Given the description of an element on the screen output the (x, y) to click on. 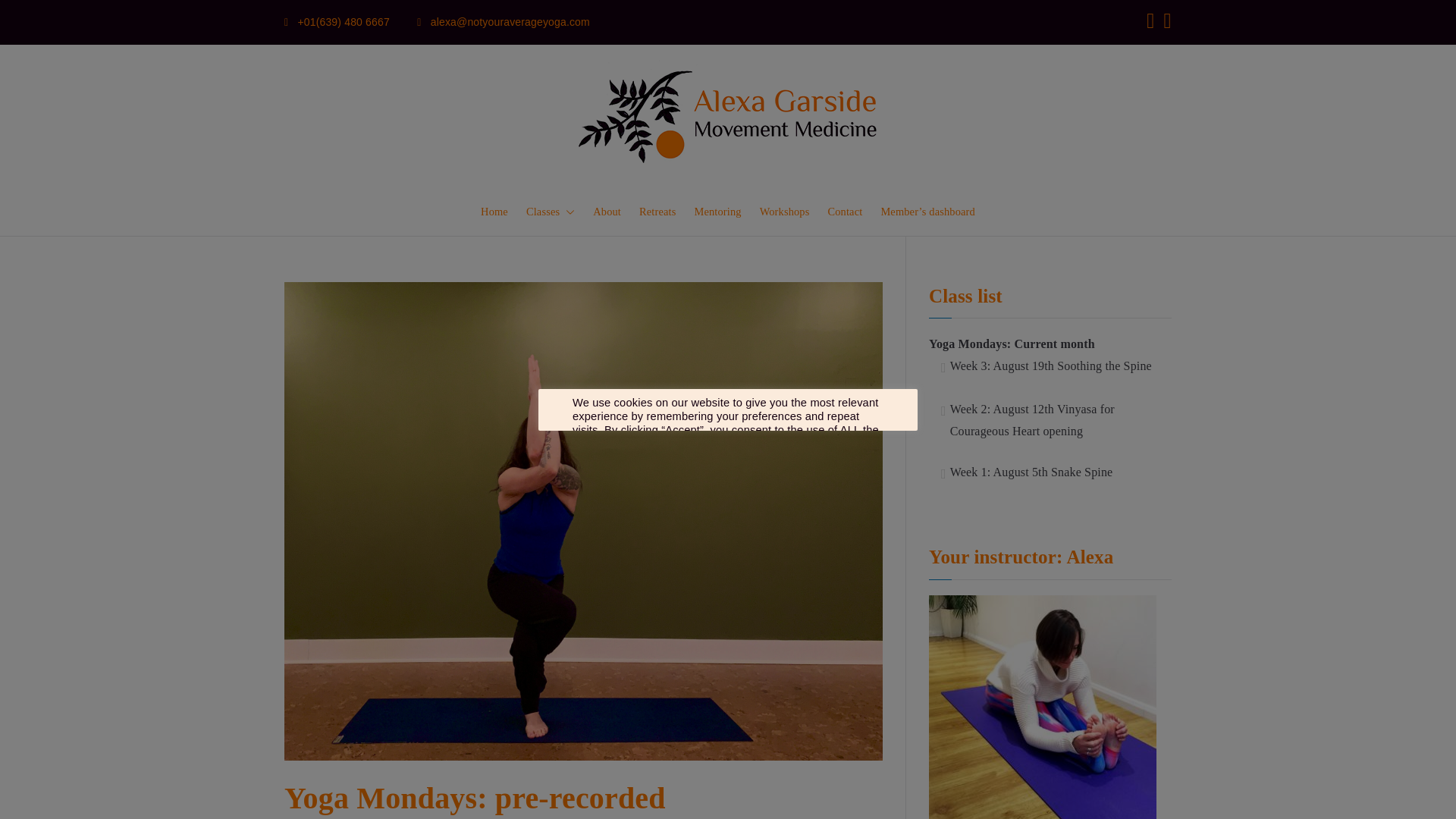
Contact (844, 211)
Home (494, 211)
Retreats (657, 211)
Alexa Garside (853, 210)
Mentoring (717, 211)
Classes (550, 211)
Workshops (784, 211)
About (606, 211)
